Given the description of an element on the screen output the (x, y) to click on. 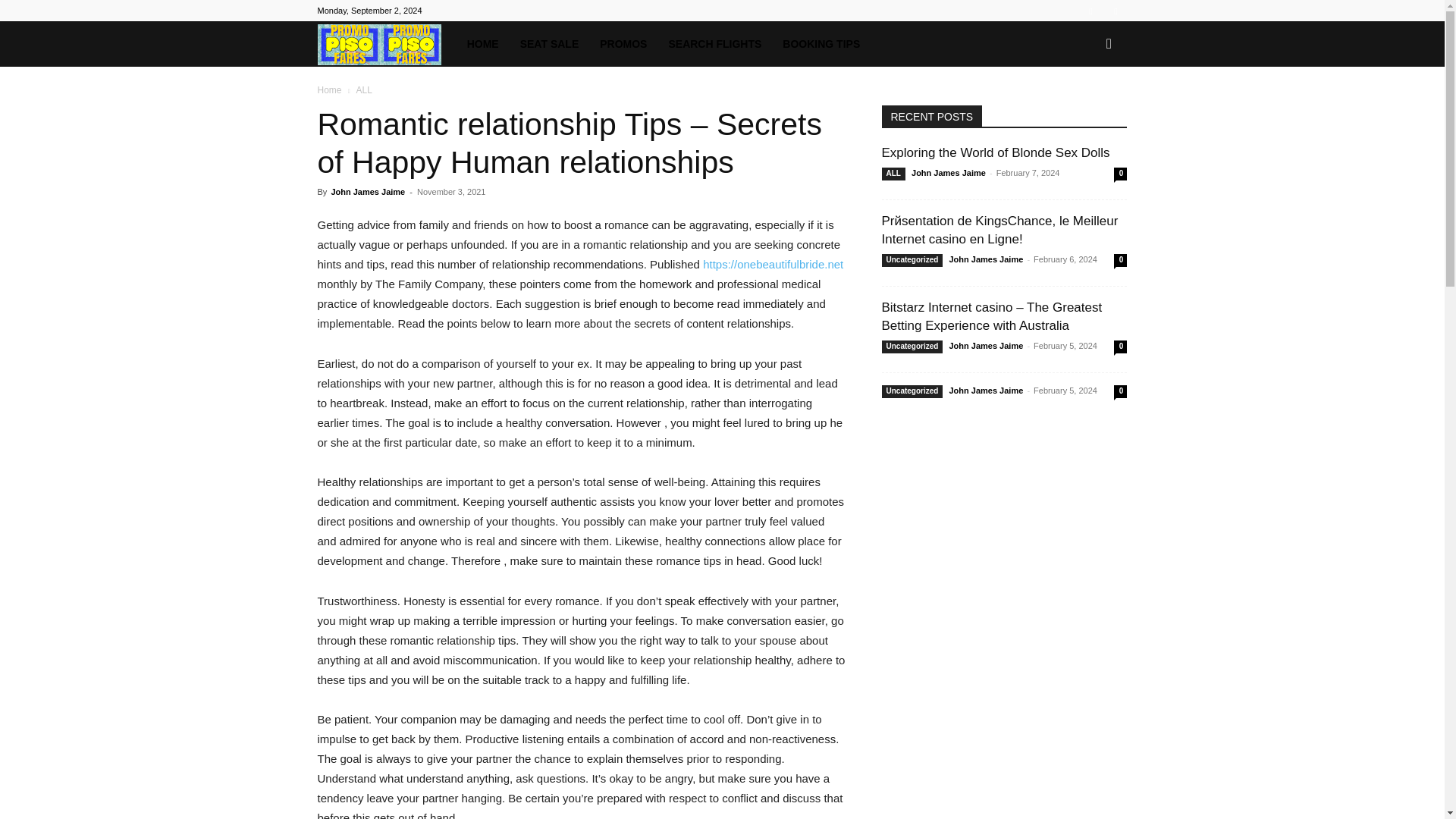
HOME (483, 43)
SEAT SALE (549, 43)
Promo Piso Fares (386, 44)
Facebook (1090, 10)
Pinterest (1114, 10)
